Given the description of an element on the screen output the (x, y) to click on. 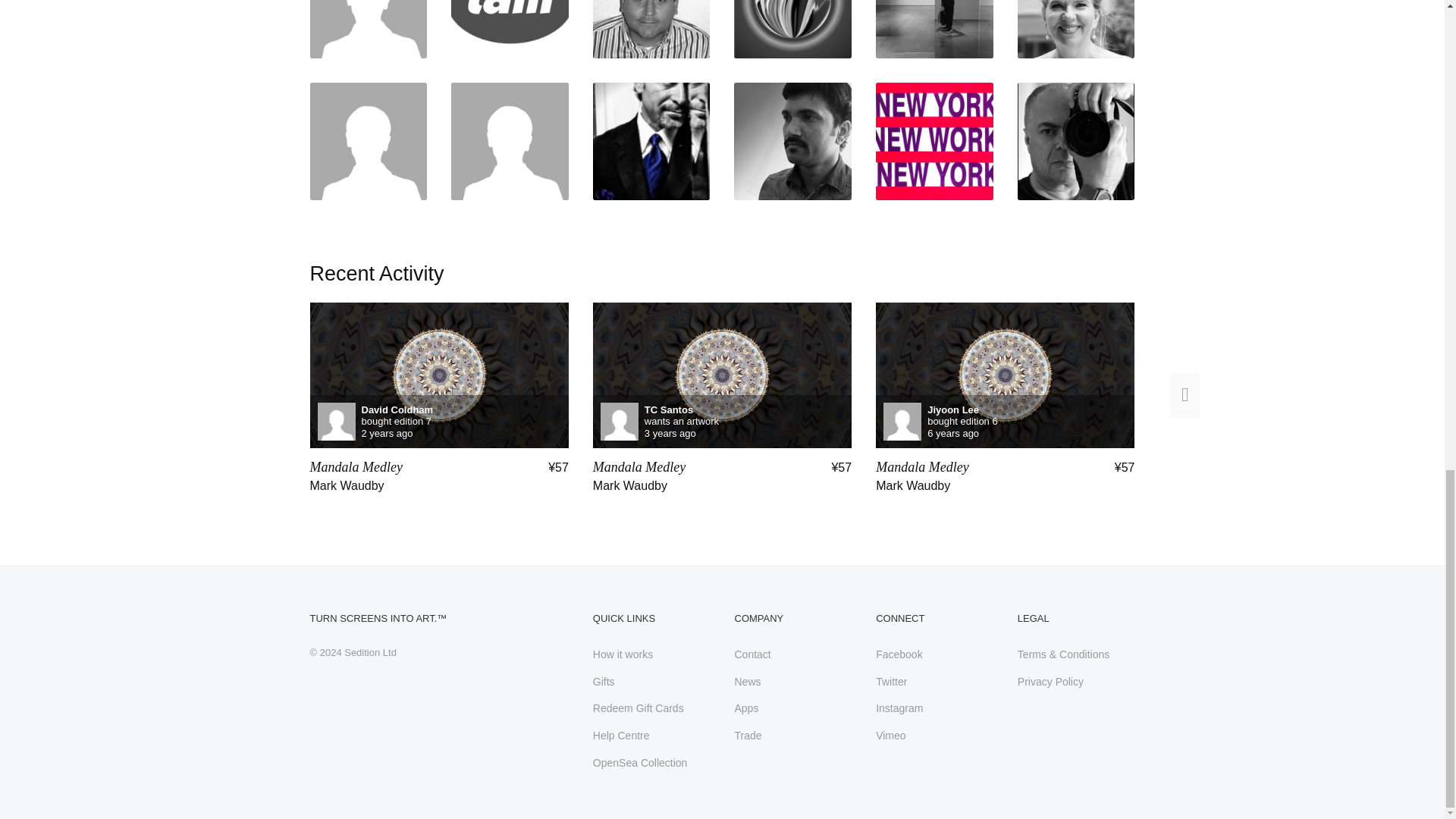
Renata Janiszewska (1076, 29)
View David Coldham profile (437, 420)
Private collector (367, 140)
Jungkook  (367, 29)
R. Gopakumar (792, 140)
TAM Collection (510, 29)
View TC Santos  profile (721, 420)
Stephen T. Coenen (792, 29)
Museum of Neo-Symbolic Art (934, 140)
NAT Shulman  (510, 140)
